Given the description of an element on the screen output the (x, y) to click on. 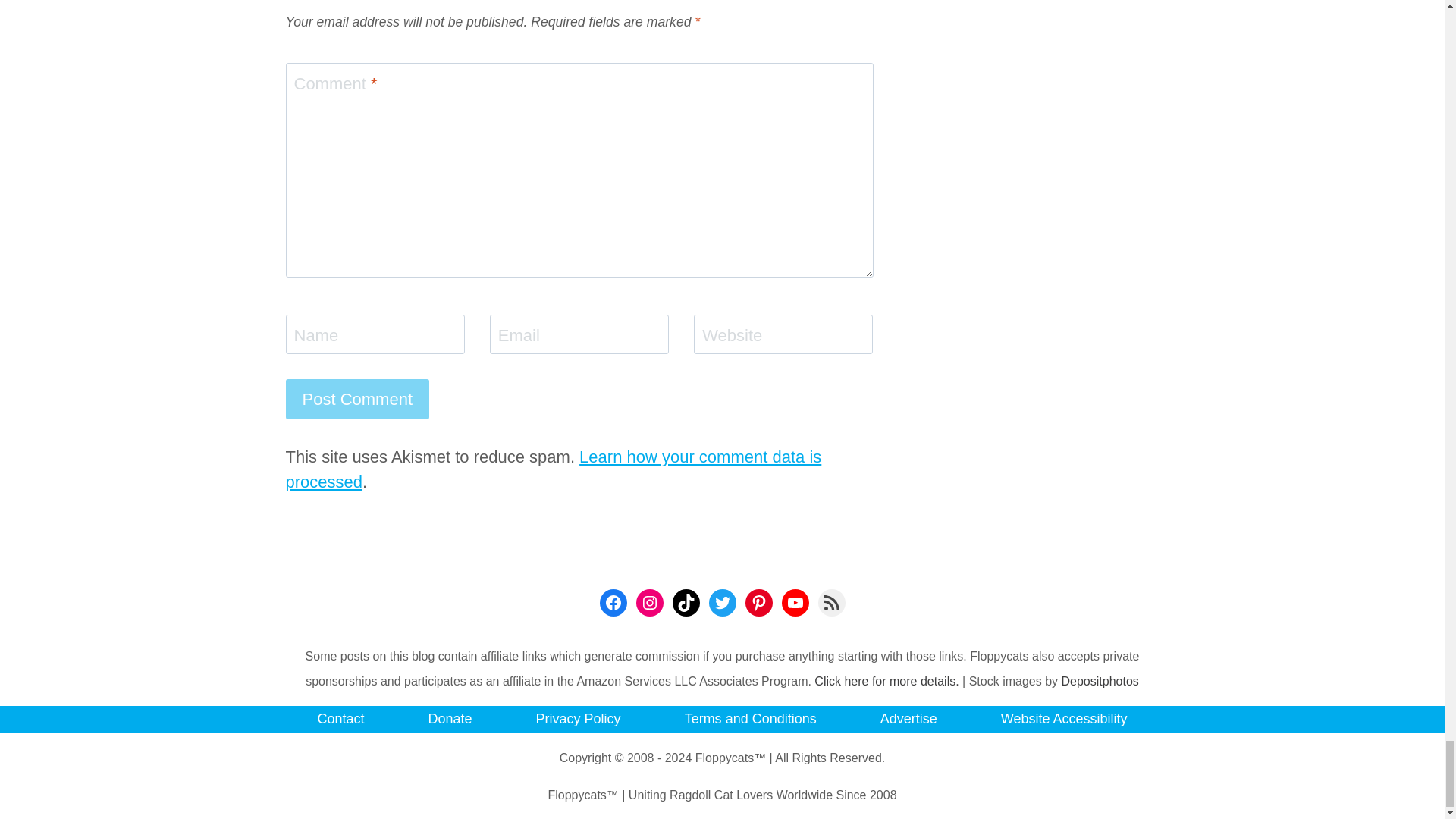
Post Comment (357, 399)
